Given the description of an element on the screen output the (x, y) to click on. 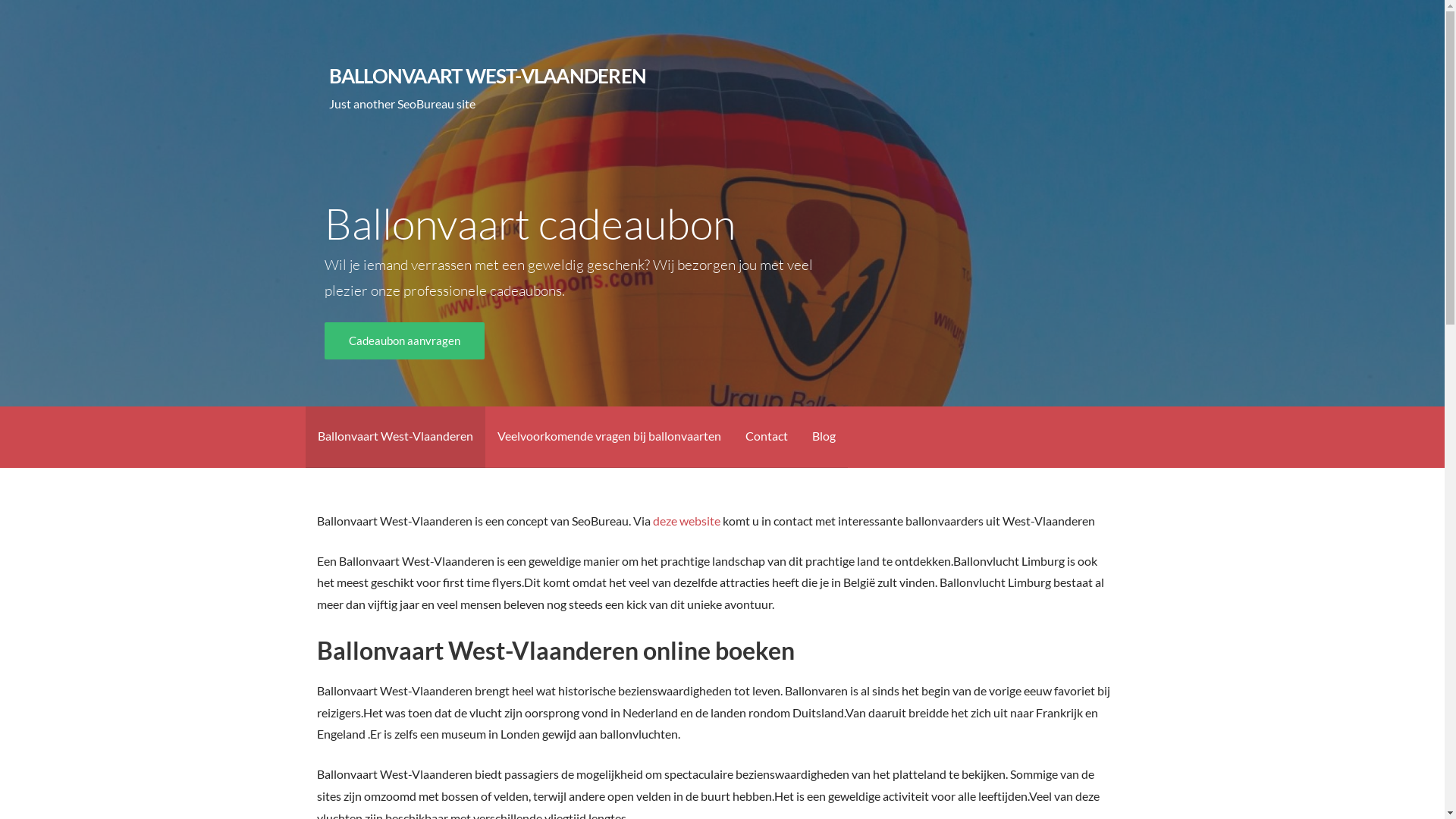
Contact Element type: text (765, 436)
BALLONVAART WEST-VLAANDEREN Element type: text (487, 75)
deze website Element type: text (686, 520)
Cadeaubon aanvragen Element type: text (404, 340)
Ballonvaart West-Vlaanderen Element type: text (394, 436)
Blog Element type: text (823, 436)
Veelvoorkomende vragen bij ballonvaarten Element type: text (609, 436)
Naar inhoud gaan Element type: text (0, 0)
